Given the description of an element on the screen output the (x, y) to click on. 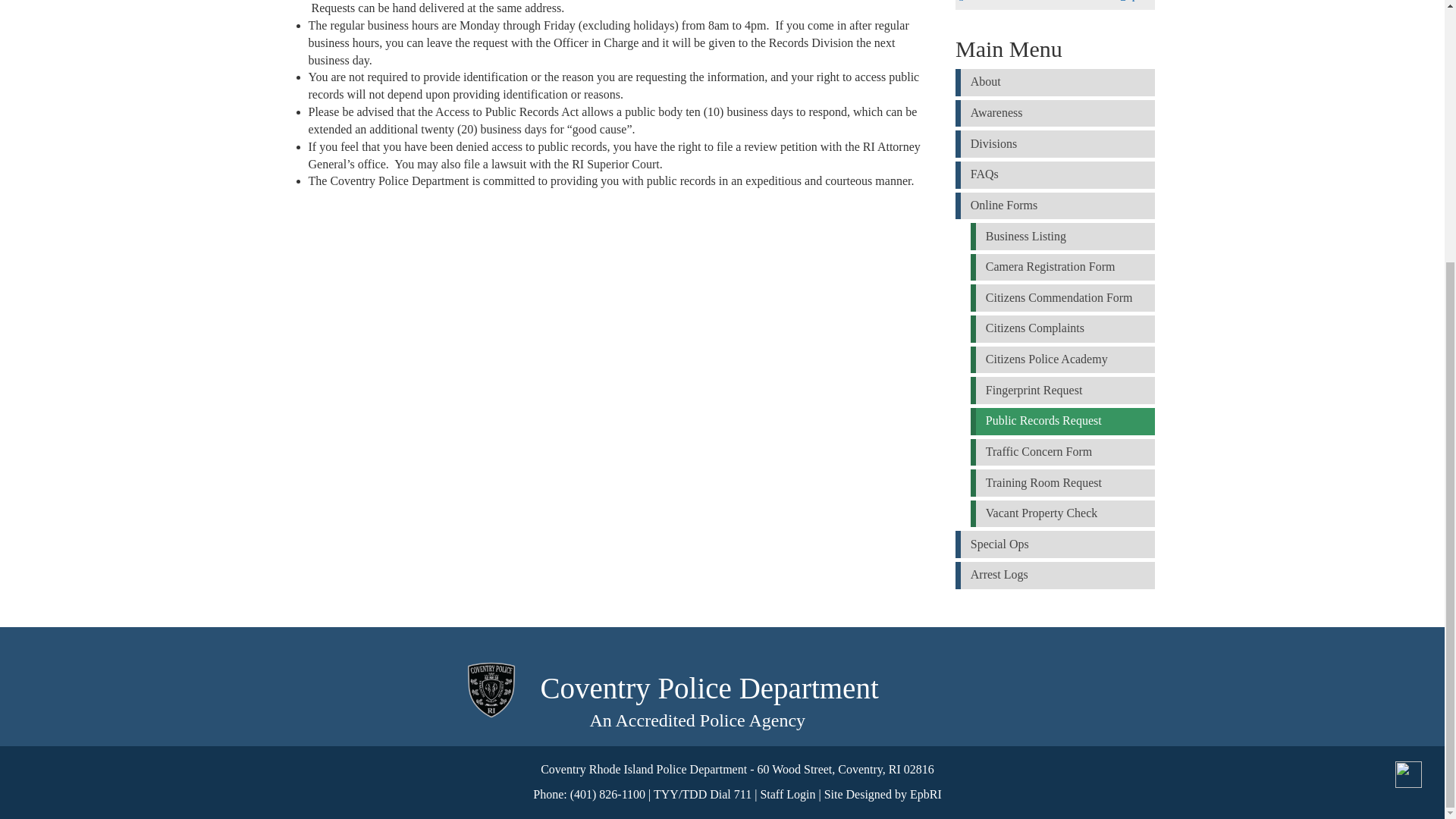
Home (709, 688)
Security Camera Registration Program (1054, 206)
Home (490, 690)
